Given the description of an element on the screen output the (x, y) to click on. 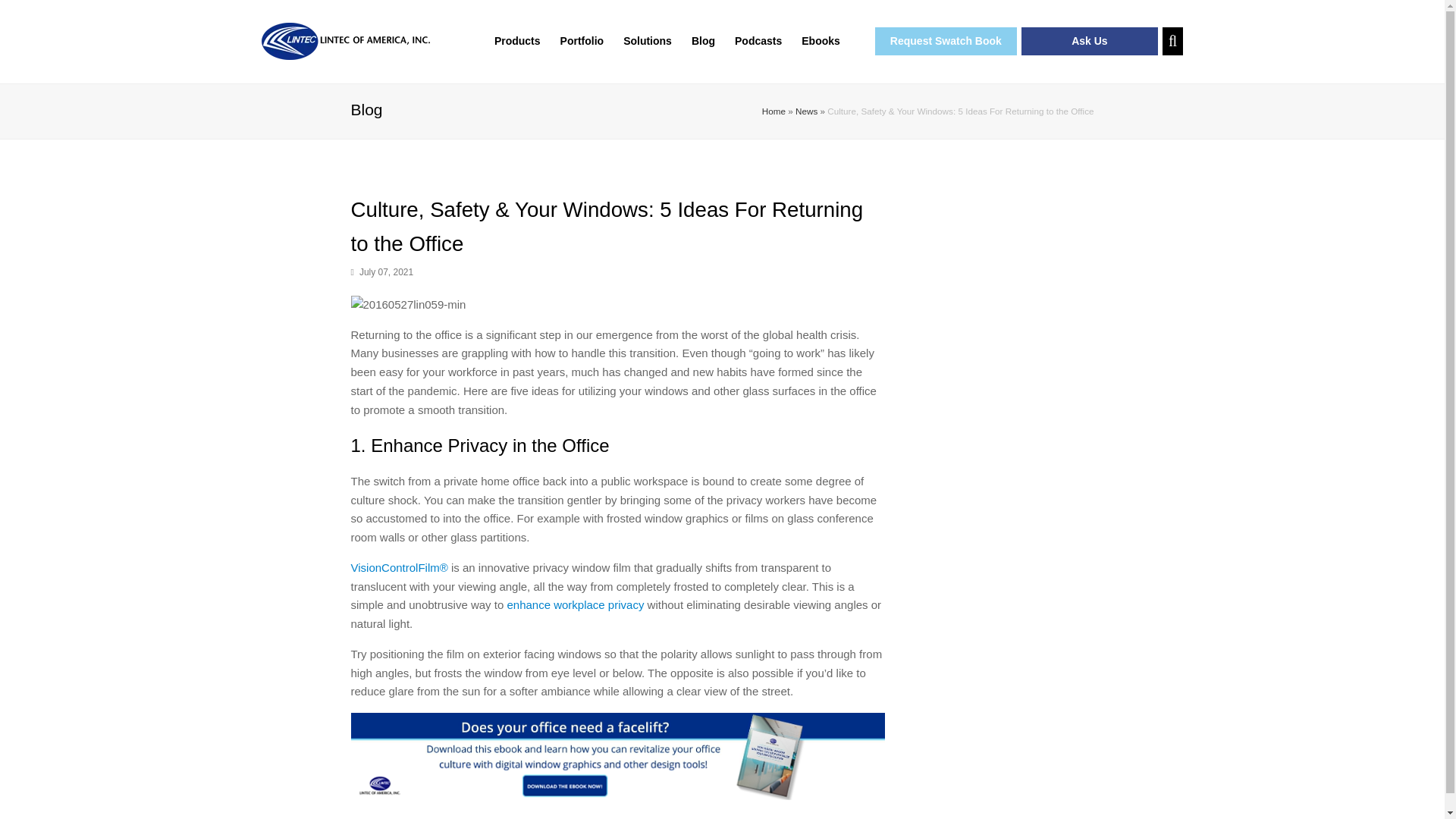
Products (517, 41)
Request Swatch Book (945, 41)
Portfolio (582, 41)
Ebooks (821, 41)
News (805, 111)
Solutions (647, 41)
Blog (702, 41)
enhance workplace privacy (574, 604)
Home (773, 111)
Ask Us (1089, 41)
